Given the description of an element on the screen output the (x, y) to click on. 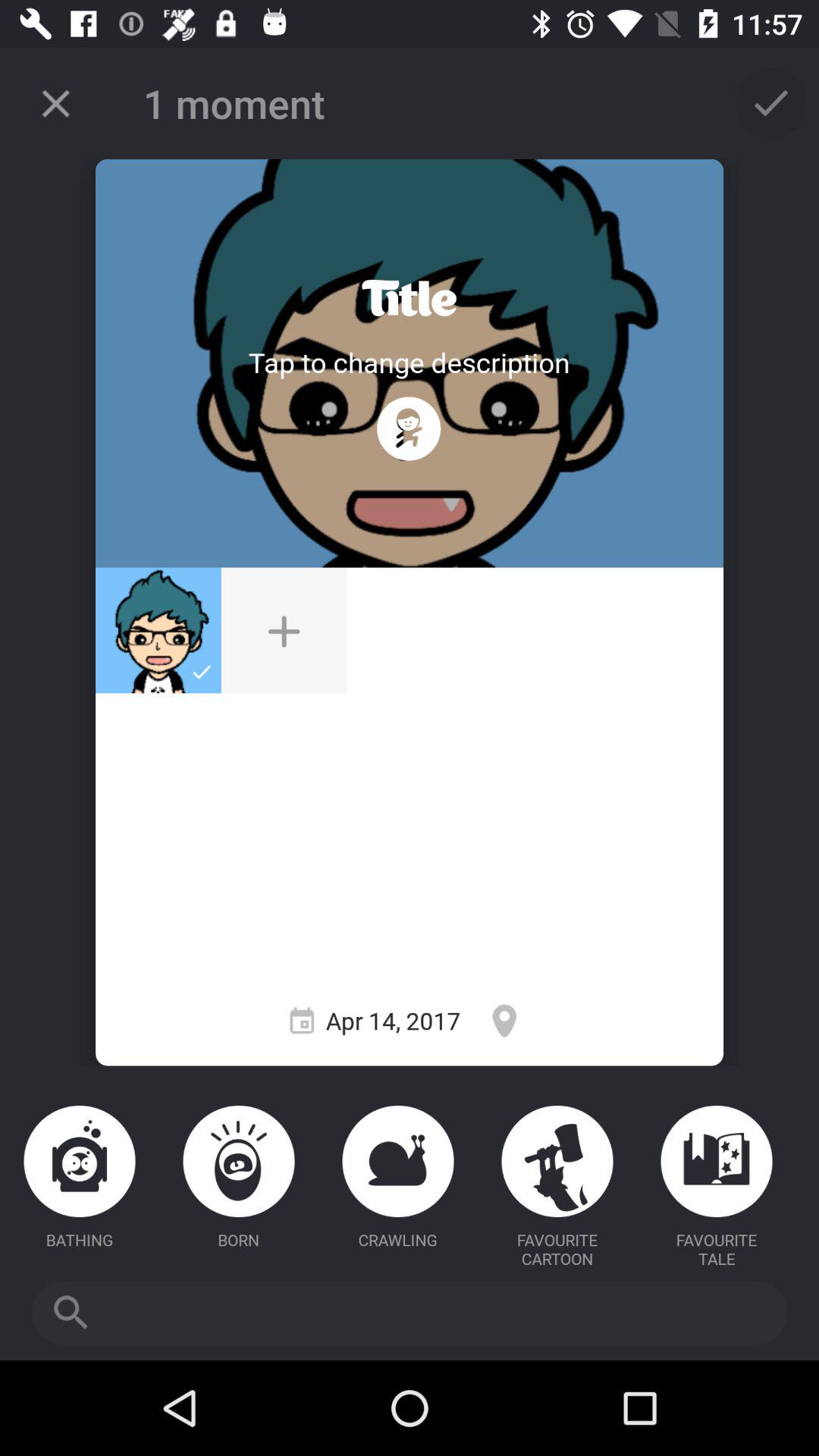
confirm (771, 103)
